Given the description of an element on the screen output the (x, y) to click on. 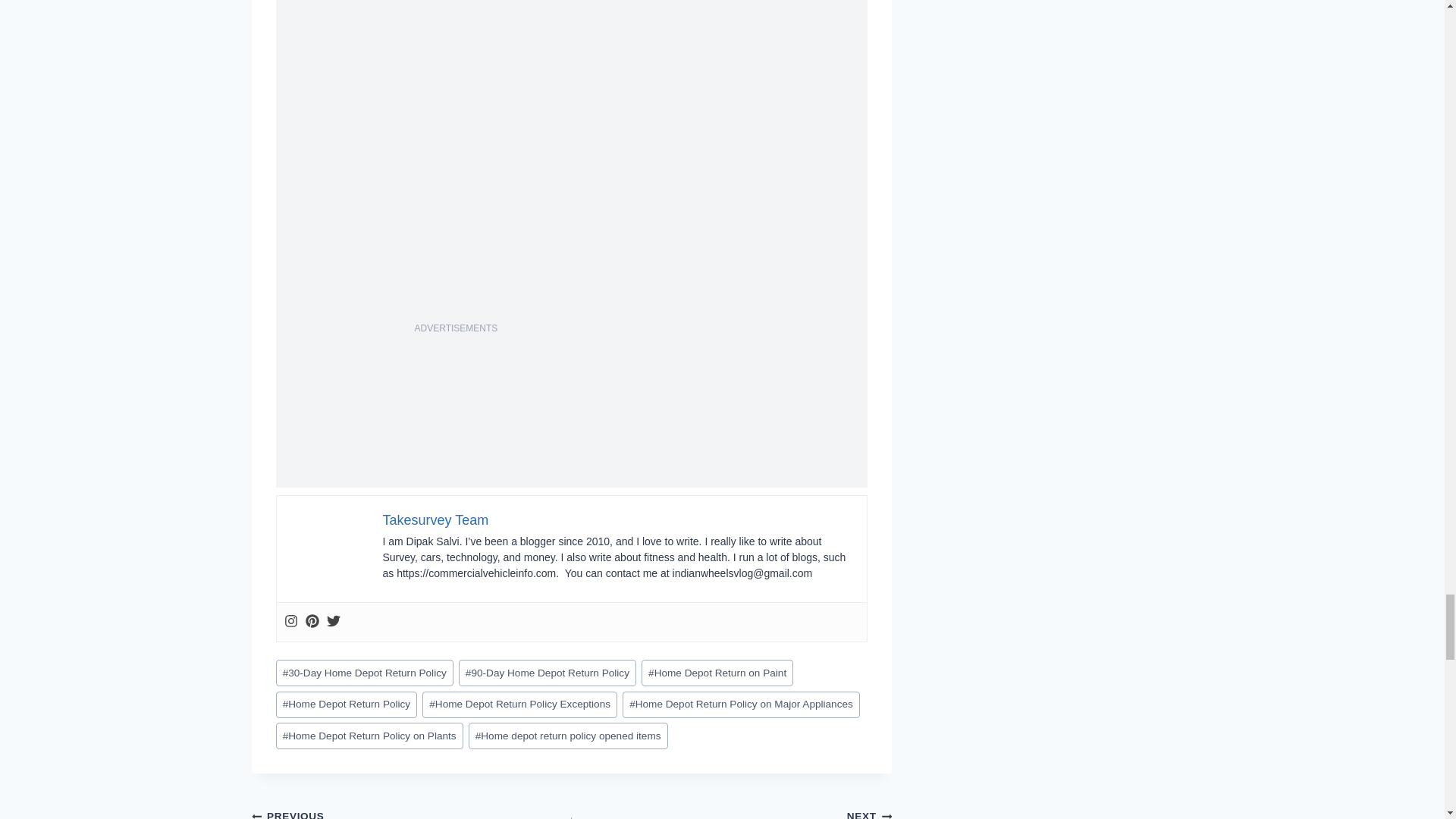
ADVERTISEMENTS (455, 327)
Takesurvey Team (434, 519)
